Given the description of an element on the screen output the (x, y) to click on. 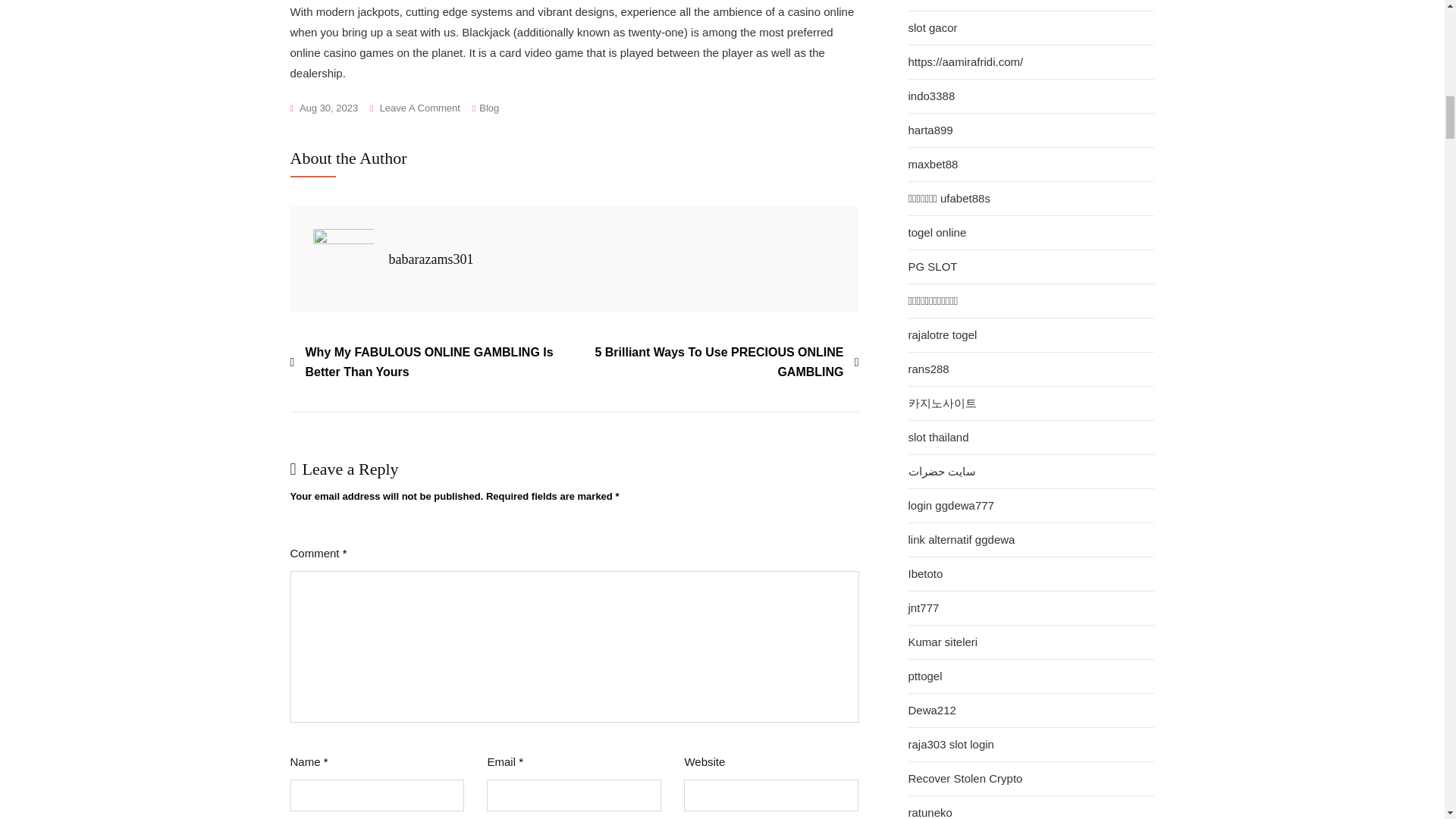
Blog (489, 107)
babarazams301 (430, 258)
5 Brilliant Ways To Use PRECIOUS ONLINE GAMBLING (717, 362)
Why My FABULOUS ONLINE GAMBLING Is Better Than Yours (431, 362)
Aug 30, 2023 (414, 107)
